Given the description of an element on the screen output the (x, y) to click on. 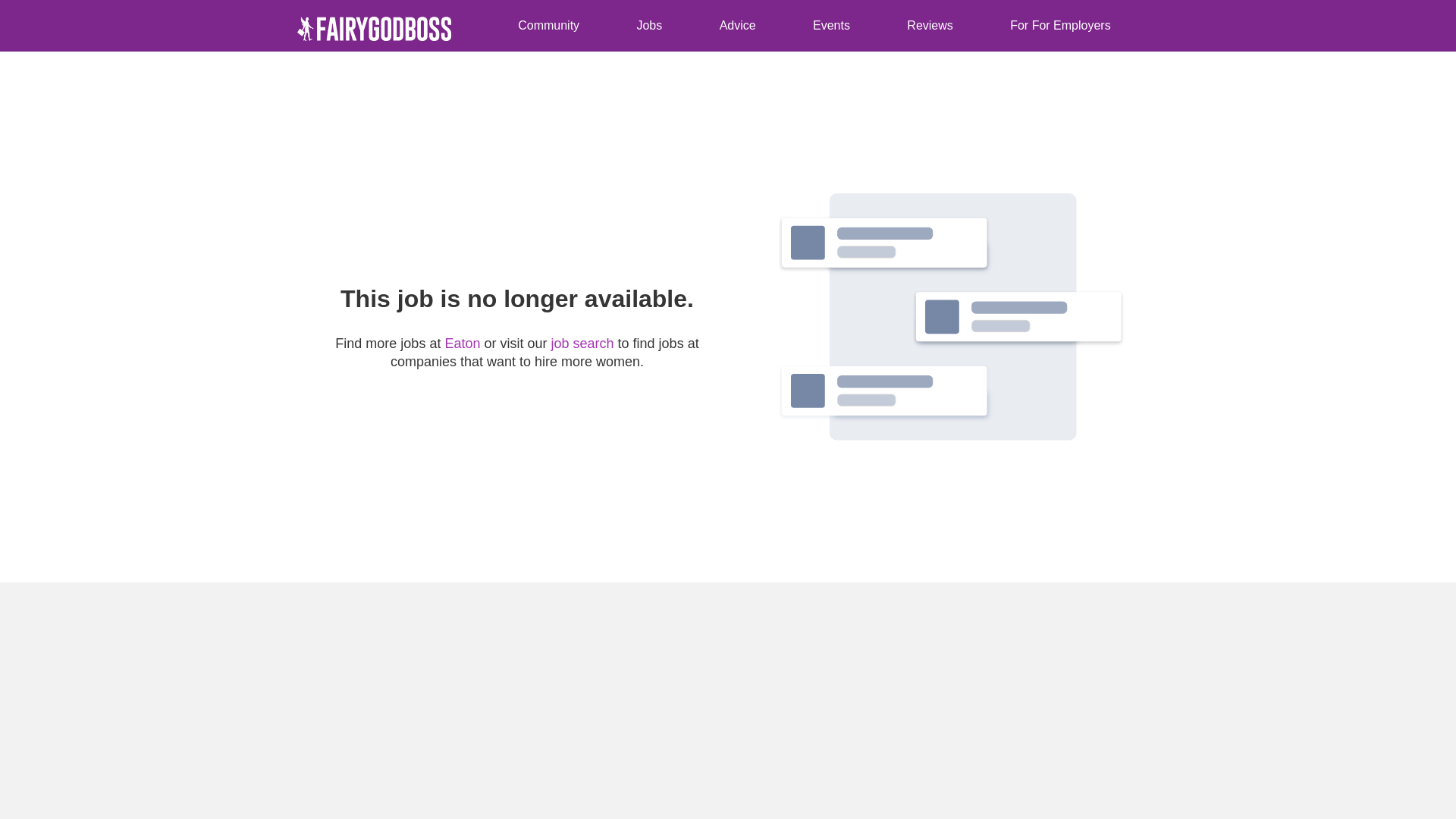
Community (548, 25)
Jobs (549, 25)
Advice (737, 25)
Community (477, 25)
Community (548, 25)
Reviews (929, 25)
Advice (737, 25)
Eaton (463, 343)
Reviews (929, 25)
Advice (609, 25)
Community (477, 25)
Events (676, 25)
Jobs (649, 25)
Events (831, 25)
job search (582, 343)
